Given the description of an element on the screen output the (x, y) to click on. 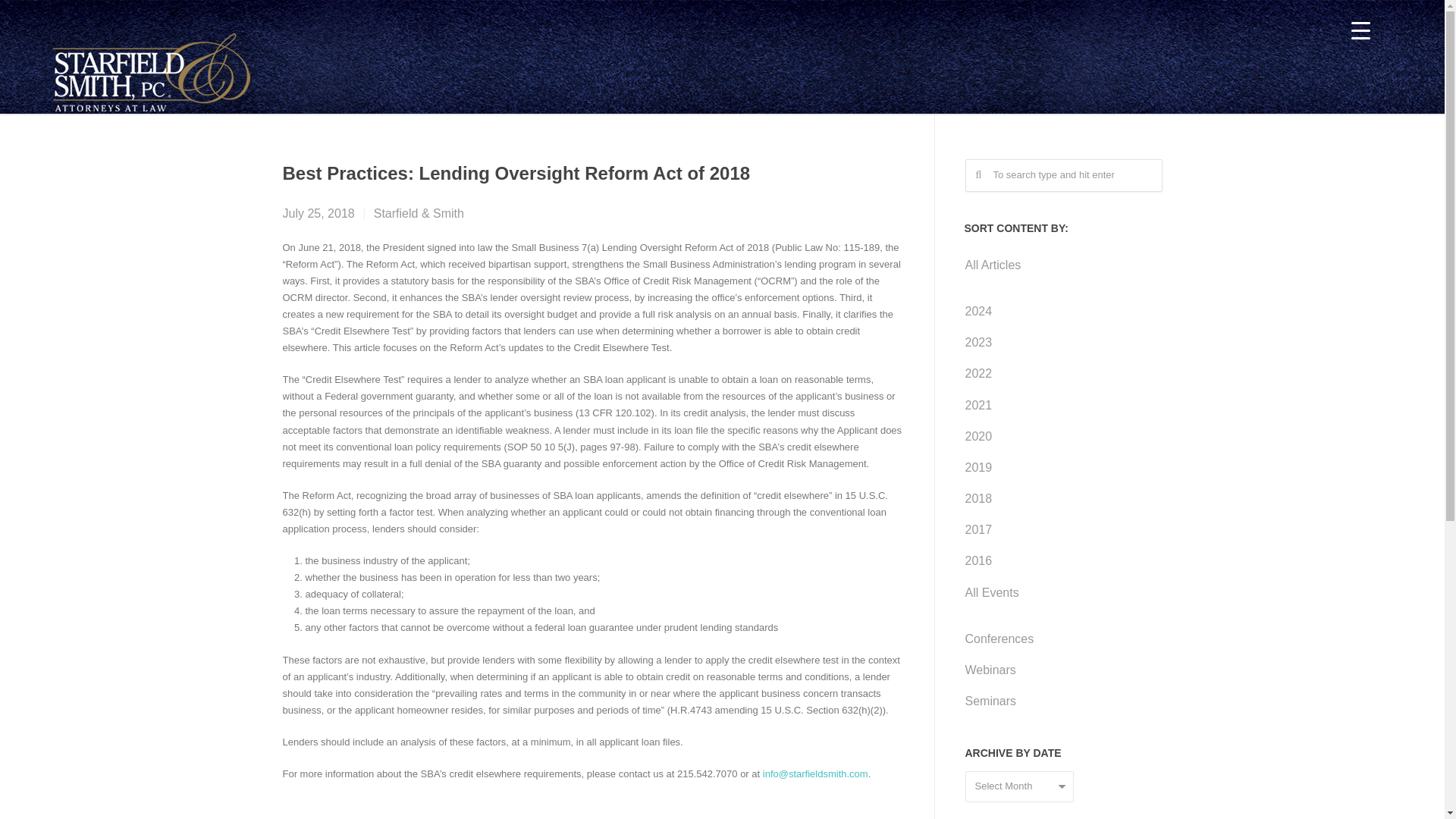
2022 (1047, 373)
Facebook (308, 816)
2023 (1047, 341)
2024 (1047, 310)
LinkedIn (430, 816)
2019 (1047, 467)
Search (39, 16)
All Articles (1047, 264)
To search type and hit enter (1062, 174)
2021 (1047, 404)
E-Mail (488, 816)
Twitter (371, 816)
Best Practices: Lending Oversight Reform Act of 2018 (515, 172)
2020 (1047, 436)
